Given the description of an element on the screen output the (x, y) to click on. 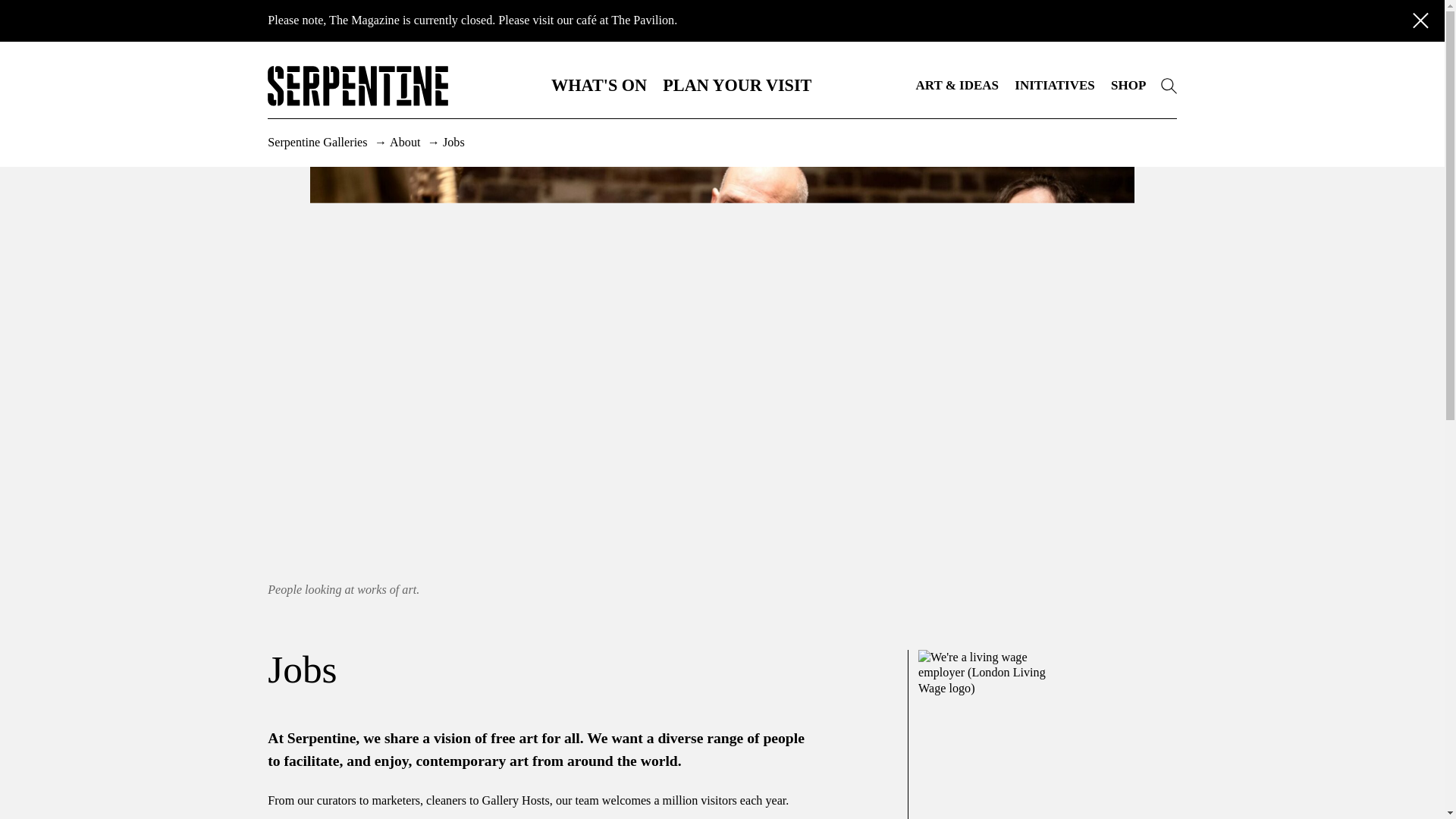
Close (1420, 20)
Serpentine Galleries (1168, 85)
PLAN YOUR VISIT (736, 85)
About (406, 141)
Go to Serpentine Galleries. (318, 141)
SHOP (1127, 84)
WHAT'S ON (598, 85)
Serpentine Galleries (318, 141)
Serpentine Galleries (1168, 85)
Go to About. (406, 141)
INITIATIVES (1054, 84)
